Given the description of an element on the screen output the (x, y) to click on. 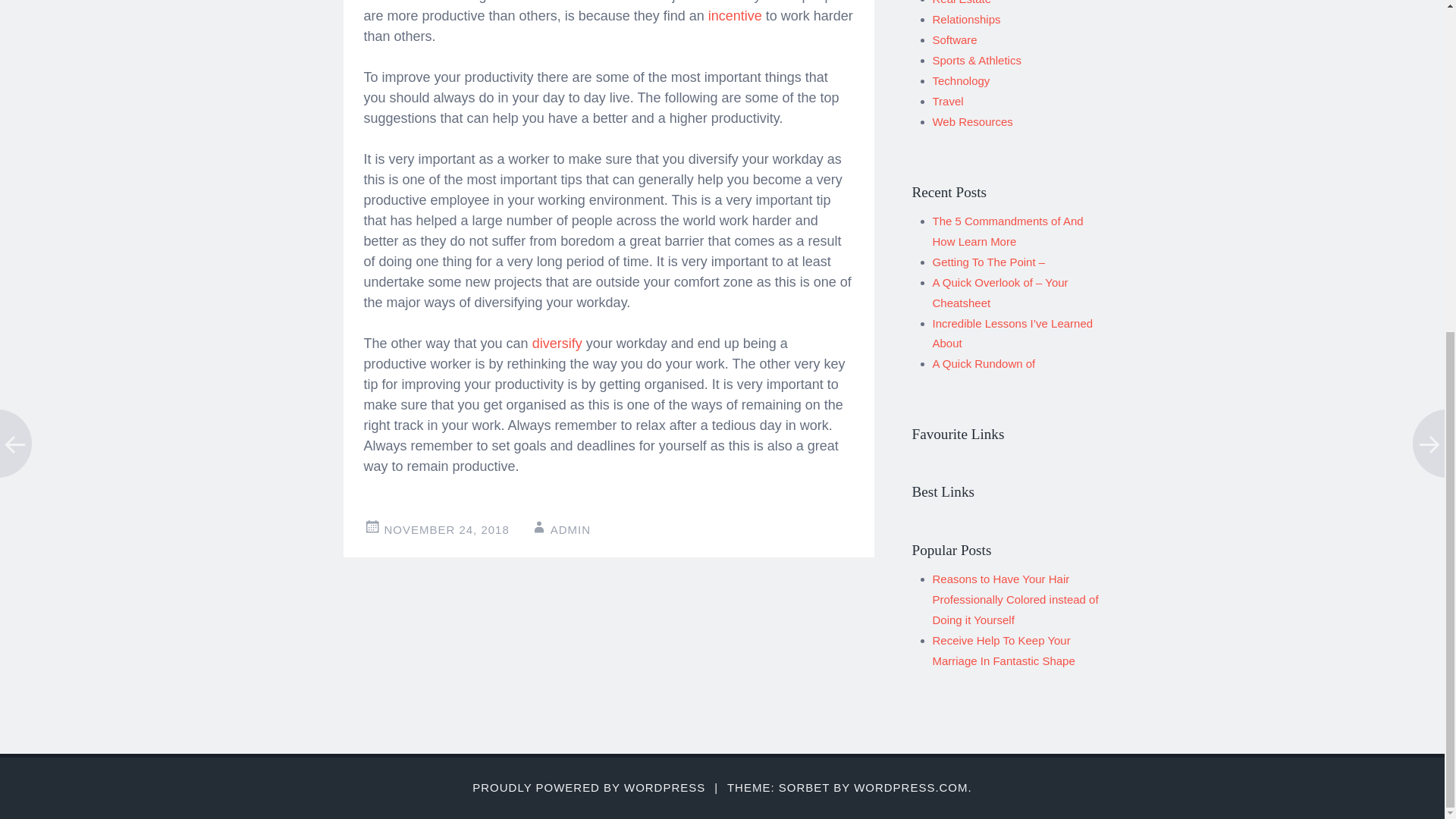
incentive (734, 15)
Web Resources (973, 121)
diversify (559, 343)
10:20 am (446, 529)
View all posts by admin (570, 529)
Real Estate (962, 2)
The 5 Commandments of And How Learn More (1008, 231)
Technology (961, 80)
ADMIN (570, 529)
